Given the description of an element on the screen output the (x, y) to click on. 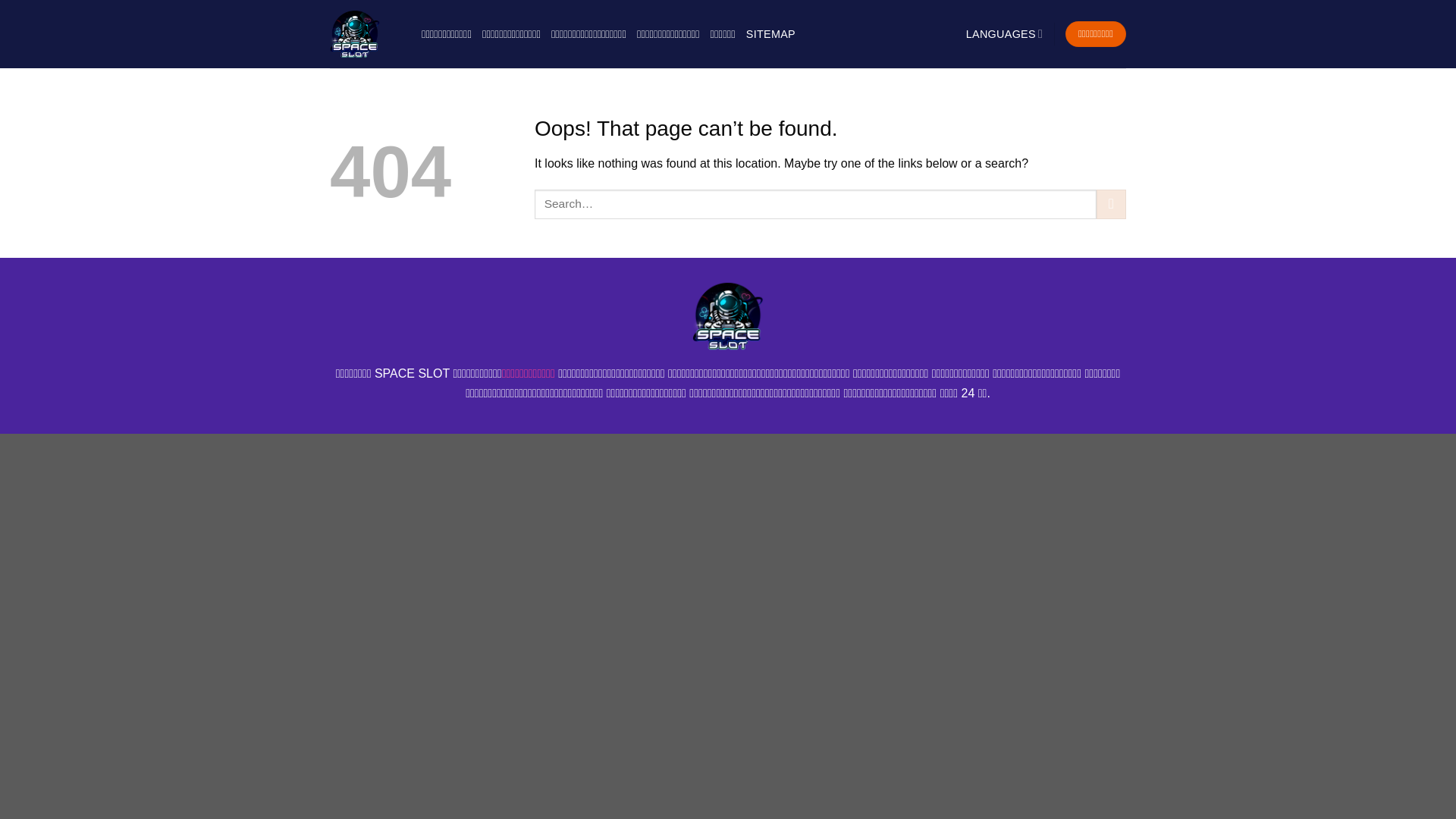
SITEMAP (769, 33)
LANGUAGES (1004, 33)
